Given the description of an element on the screen output the (x, y) to click on. 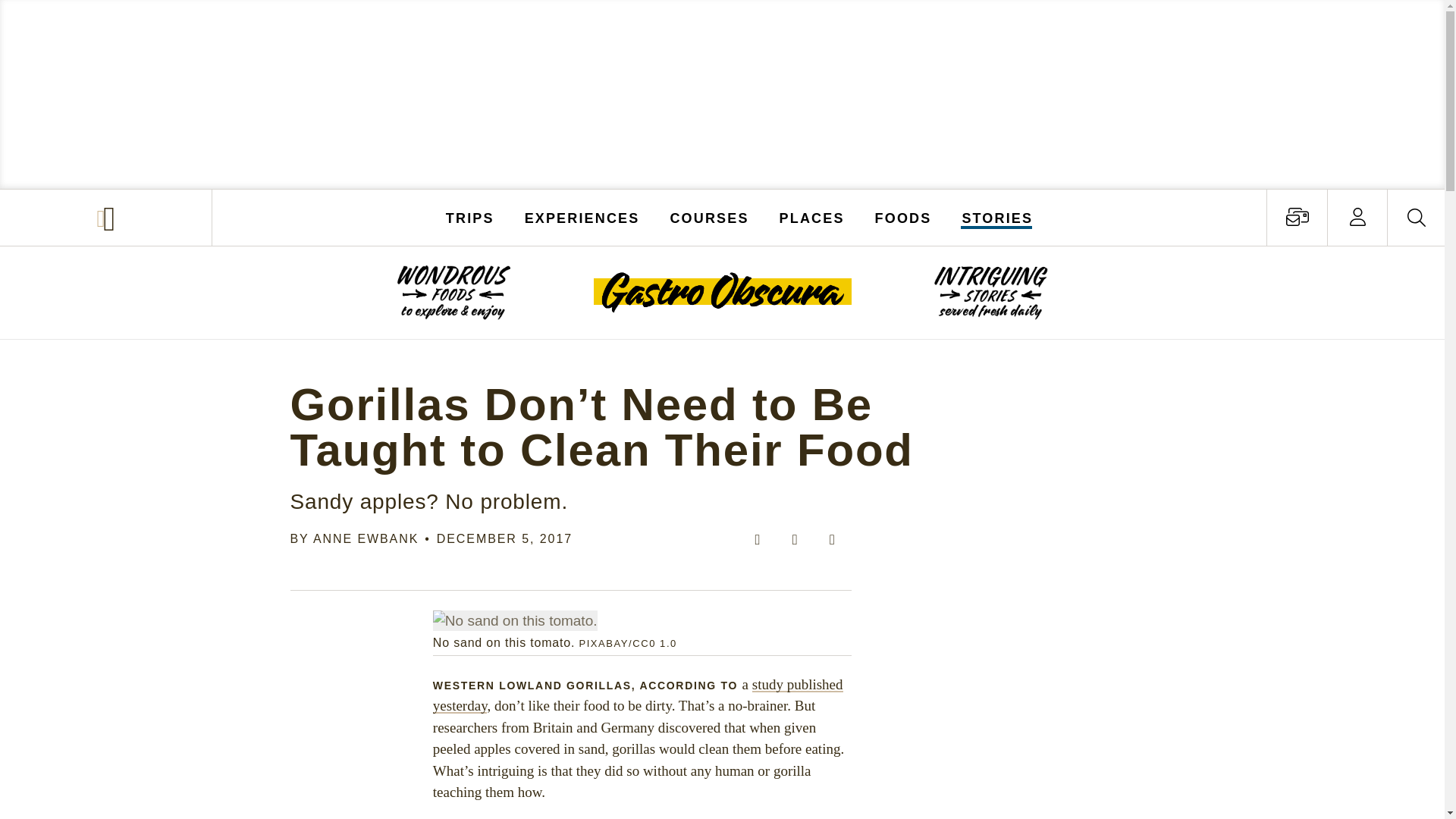
PLACES (812, 217)
EXPERIENCES (582, 217)
TRIPS (469, 217)
COURSES (707, 217)
